Given the description of an element on the screen output the (x, y) to click on. 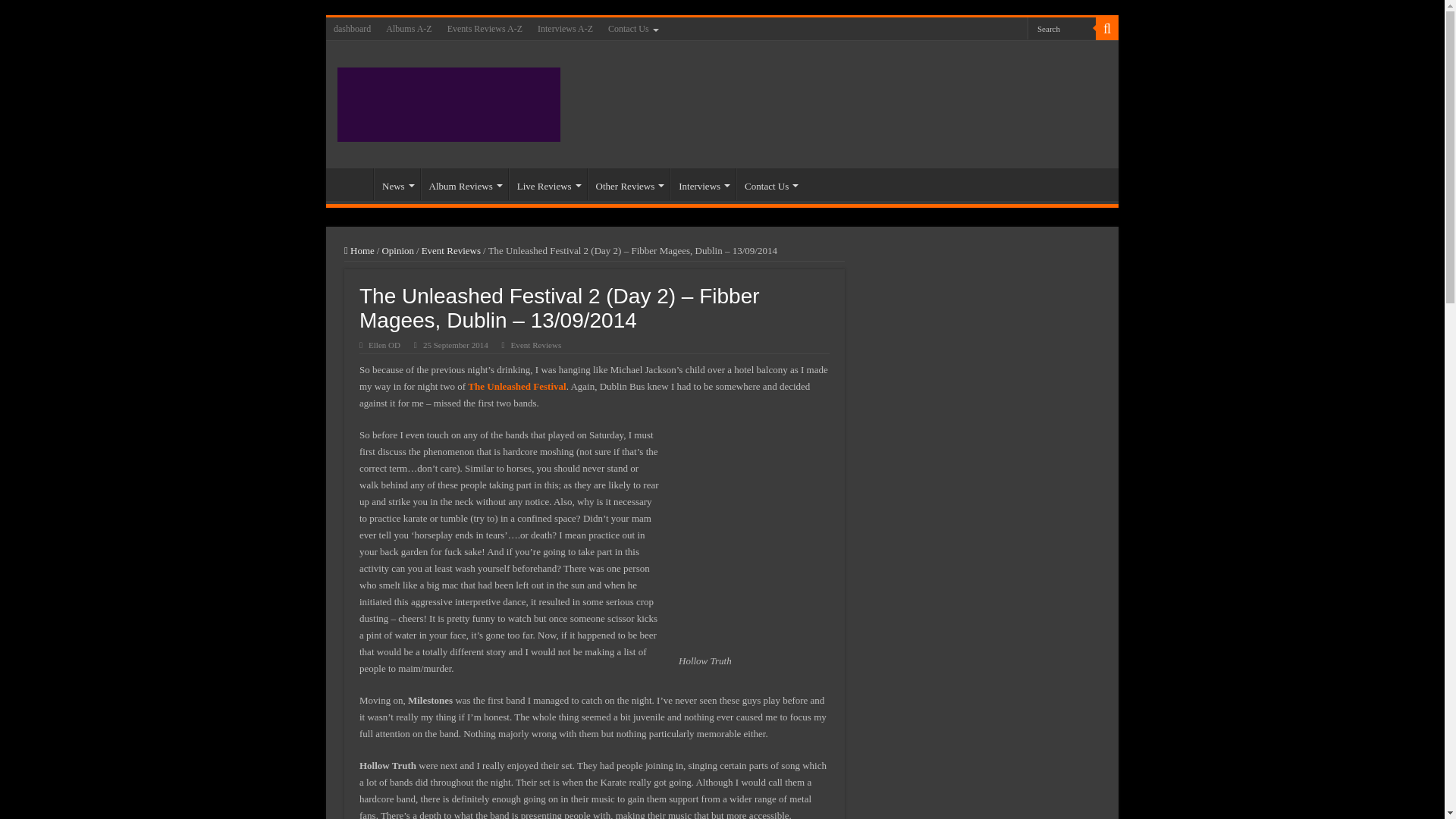
Albums A-Z (408, 28)
dashboard (352, 28)
Events Reviews A-Z (484, 28)
Other Reviews (628, 183)
Contact Us (631, 28)
Search (1061, 28)
Interviews (702, 183)
Search (1107, 28)
Search (1061, 28)
News (397, 183)
Live Reviews (547, 183)
Home (352, 183)
Interviews A-Z (564, 28)
Search (1061, 28)
Album Reviews (464, 183)
